Given the description of an element on the screen output the (x, y) to click on. 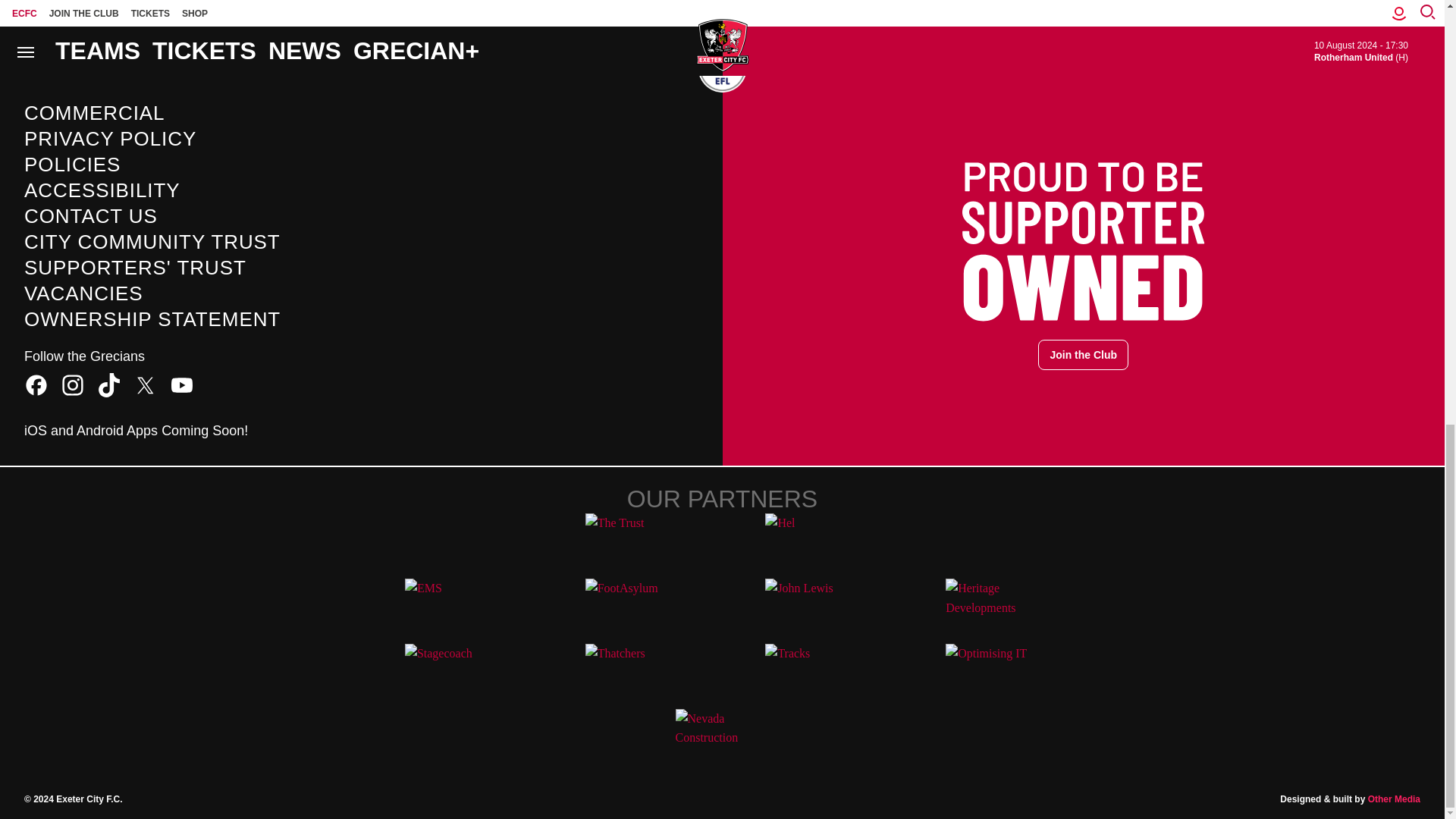
Heritage Developments (991, 604)
Facebook (36, 385)
Footasylum (632, 604)
Stagecoach (451, 669)
Optimising IT (991, 669)
Nevada Construction  (721, 735)
X Formally know as Twitter (145, 385)
TikTok icon (108, 385)
EMS (451, 604)
The Trust (632, 539)
